Given the description of an element on the screen output the (x, y) to click on. 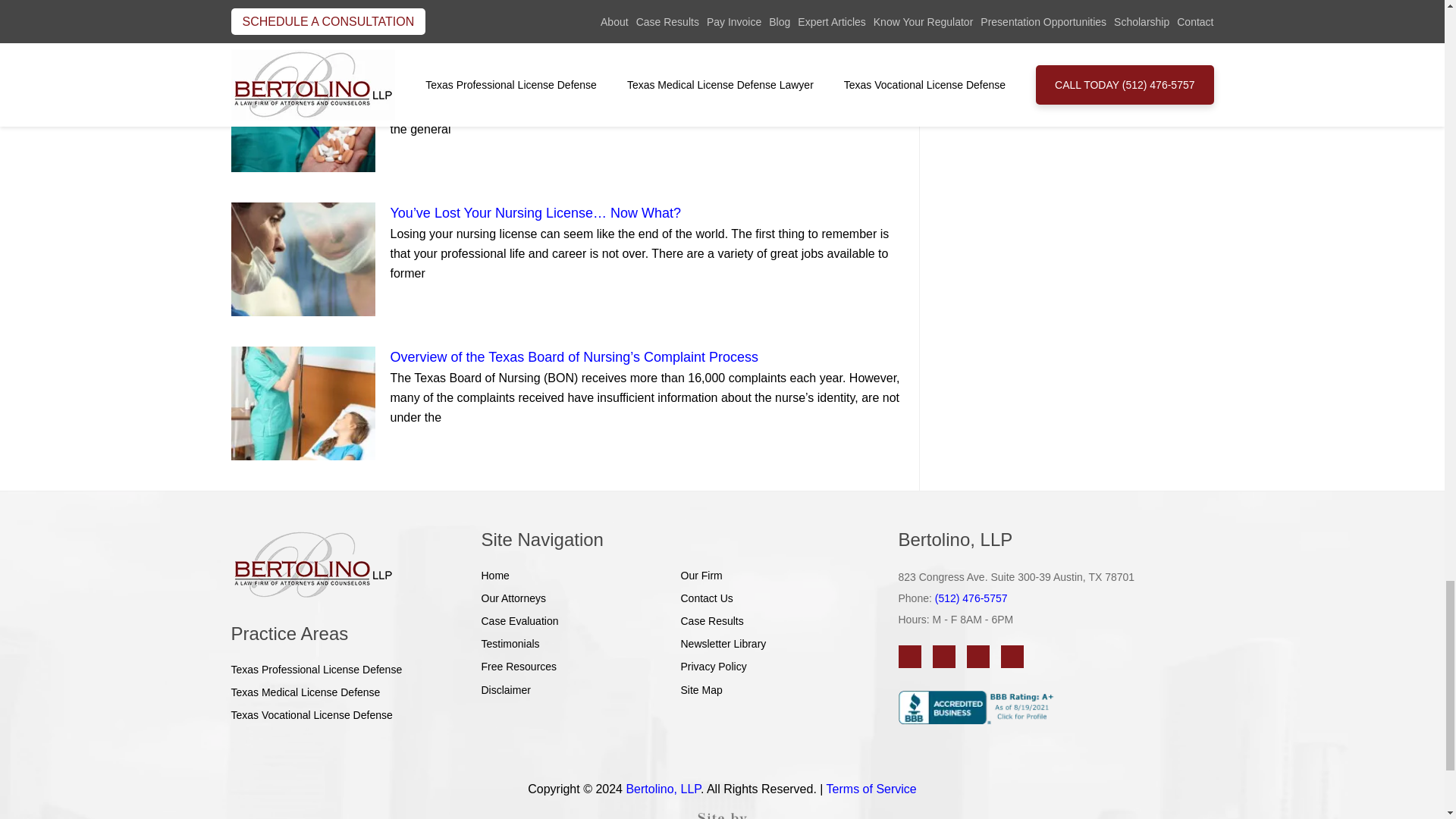
Bertolino LLP Law Firm (346, 564)
Call to Bertolino Law Firm (970, 598)
Bertolino LLP (312, 564)
